Given the description of an element on the screen output the (x, y) to click on. 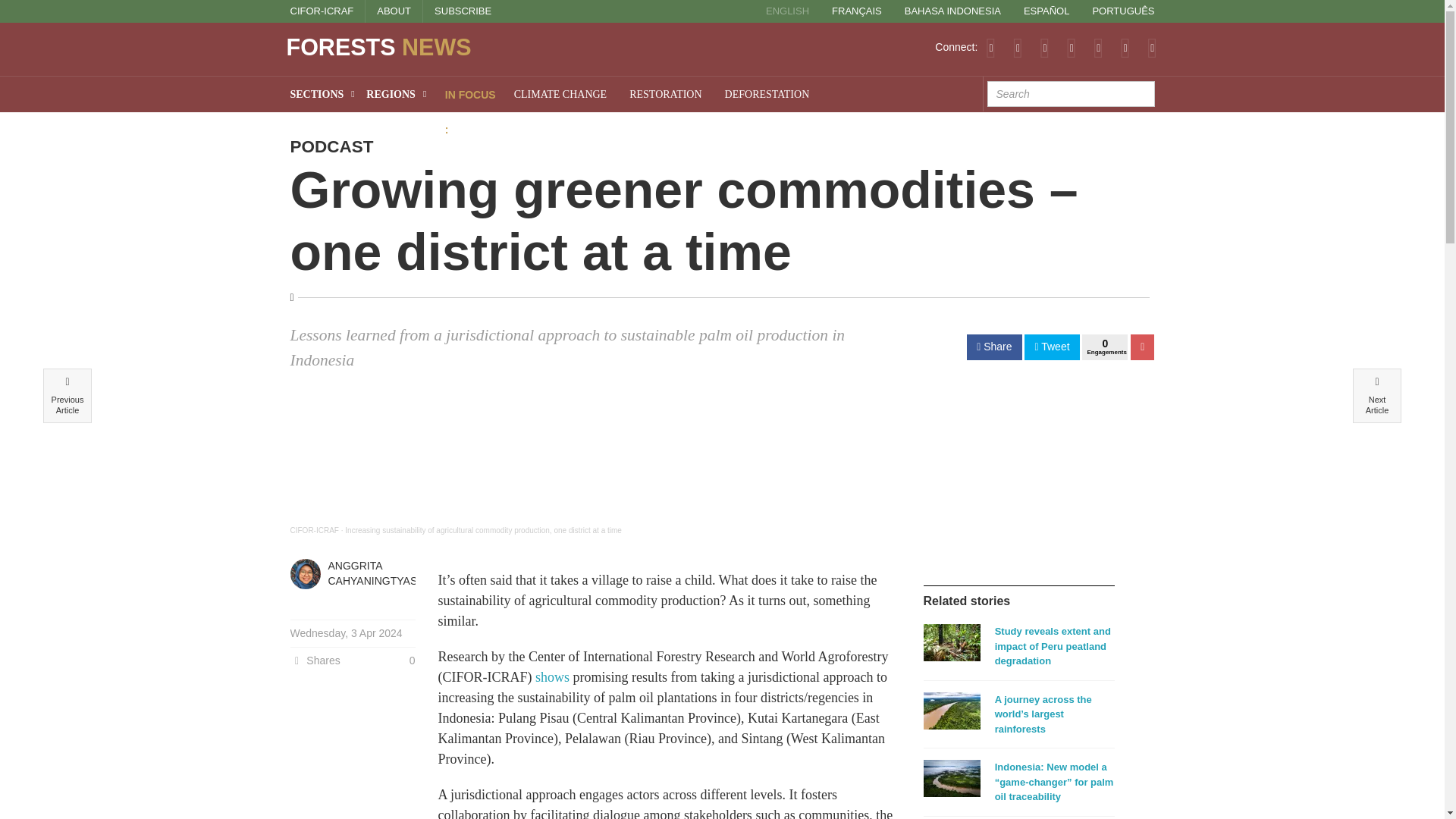
Twitter (1017, 46)
Facebook (1044, 46)
Feed (990, 46)
CIFOR-ICRAF (321, 10)
Instagram (1125, 46)
Youtube (1098, 46)
BAHASA INDONESIA (952, 11)
SUBSCRIBE (462, 10)
ABOUT (393, 10)
Email (1152, 46)
